Given the description of an element on the screen output the (x, y) to click on. 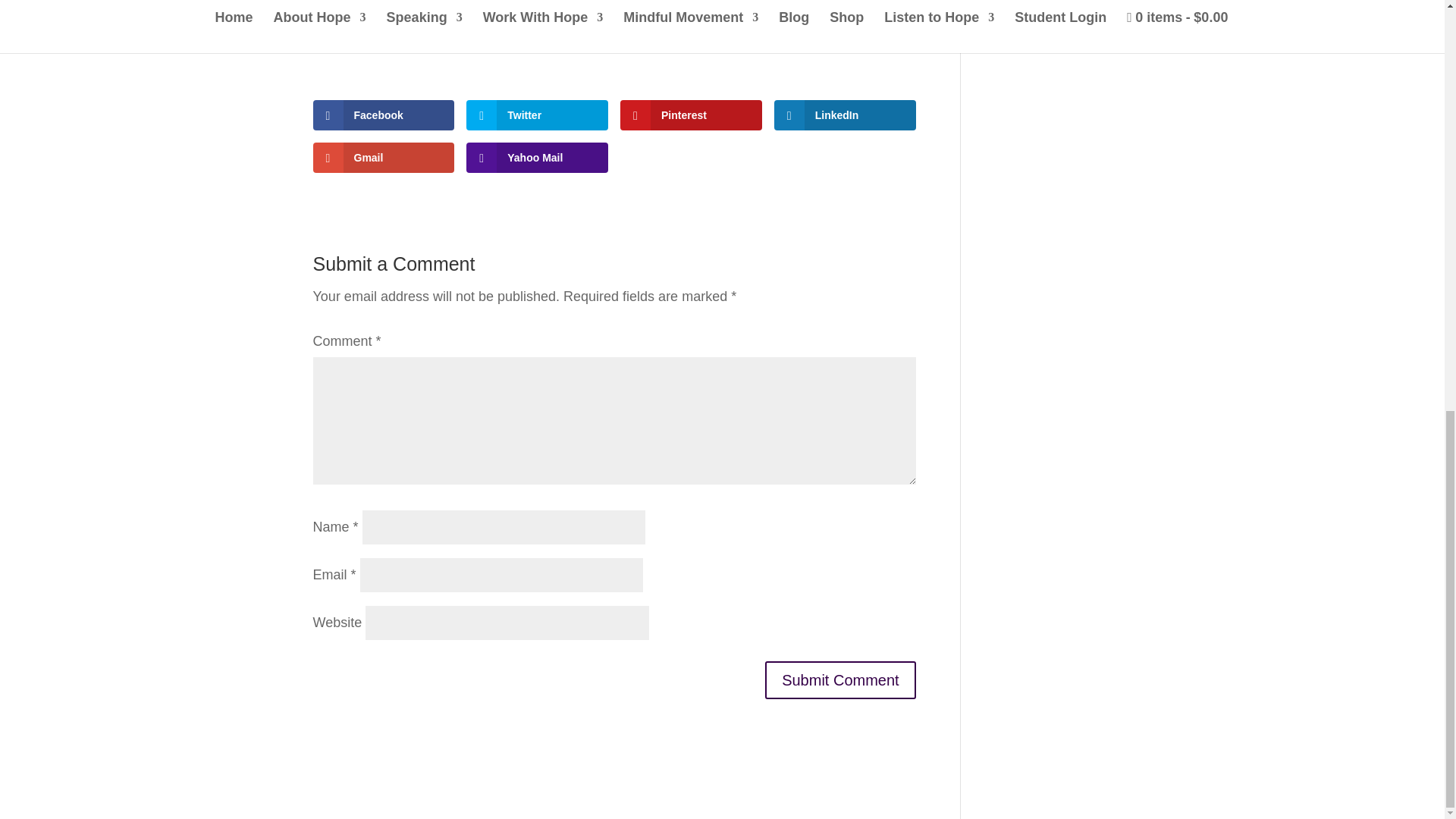
Submit Comment (840, 679)
Submit Comment (840, 679)
Yahoo Mail (536, 157)
Gmail (383, 157)
LinkedIn (844, 114)
Pinterest (690, 114)
Facebook (383, 114)
Twitter (536, 114)
